Given the description of an element on the screen output the (x, y) to click on. 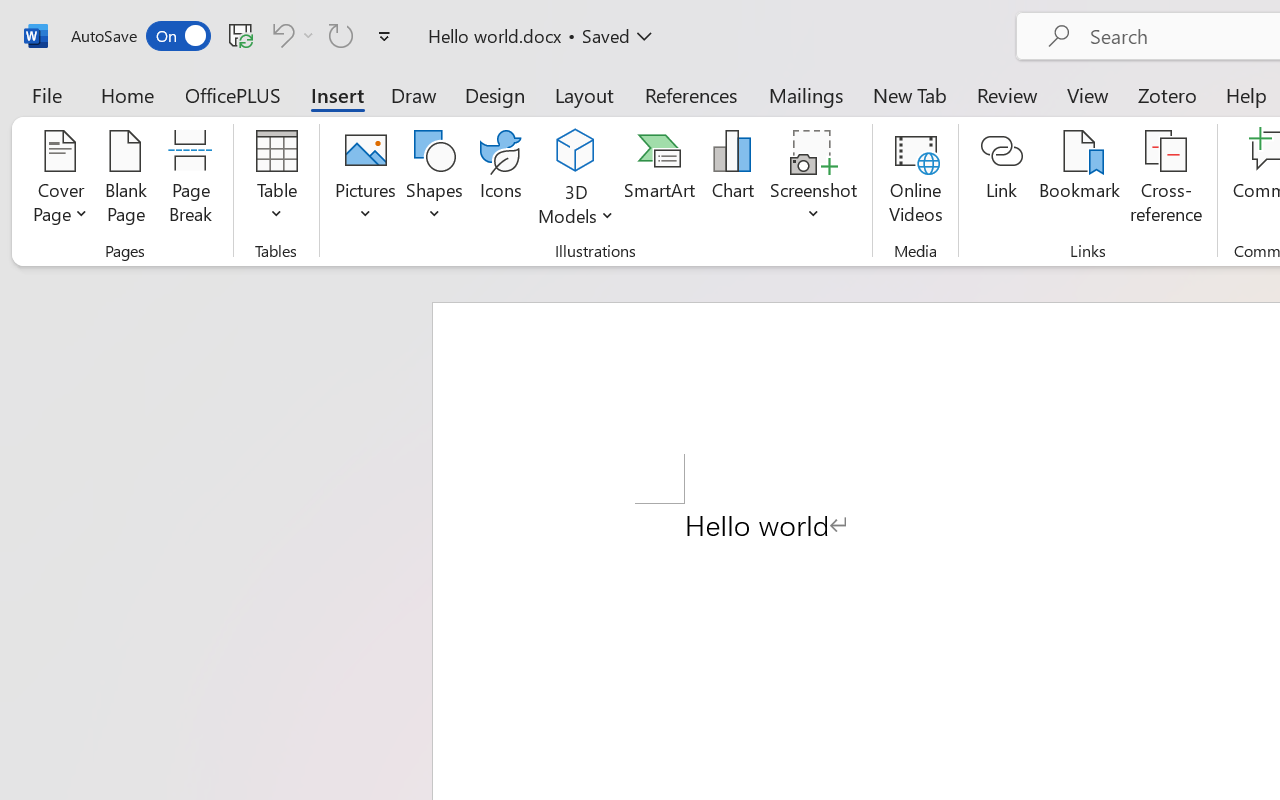
Blank Page (125, 179)
Link (1001, 179)
Table (276, 179)
Insert (337, 94)
Layout (584, 94)
New Tab (909, 94)
3D Models (576, 179)
Can't Undo (290, 35)
Can't Repeat (341, 35)
Customize Quick Access Toolbar (384, 35)
Online Videos... (915, 179)
Pictures (365, 179)
Cover Page (60, 179)
